Given the description of an element on the screen output the (x, y) to click on. 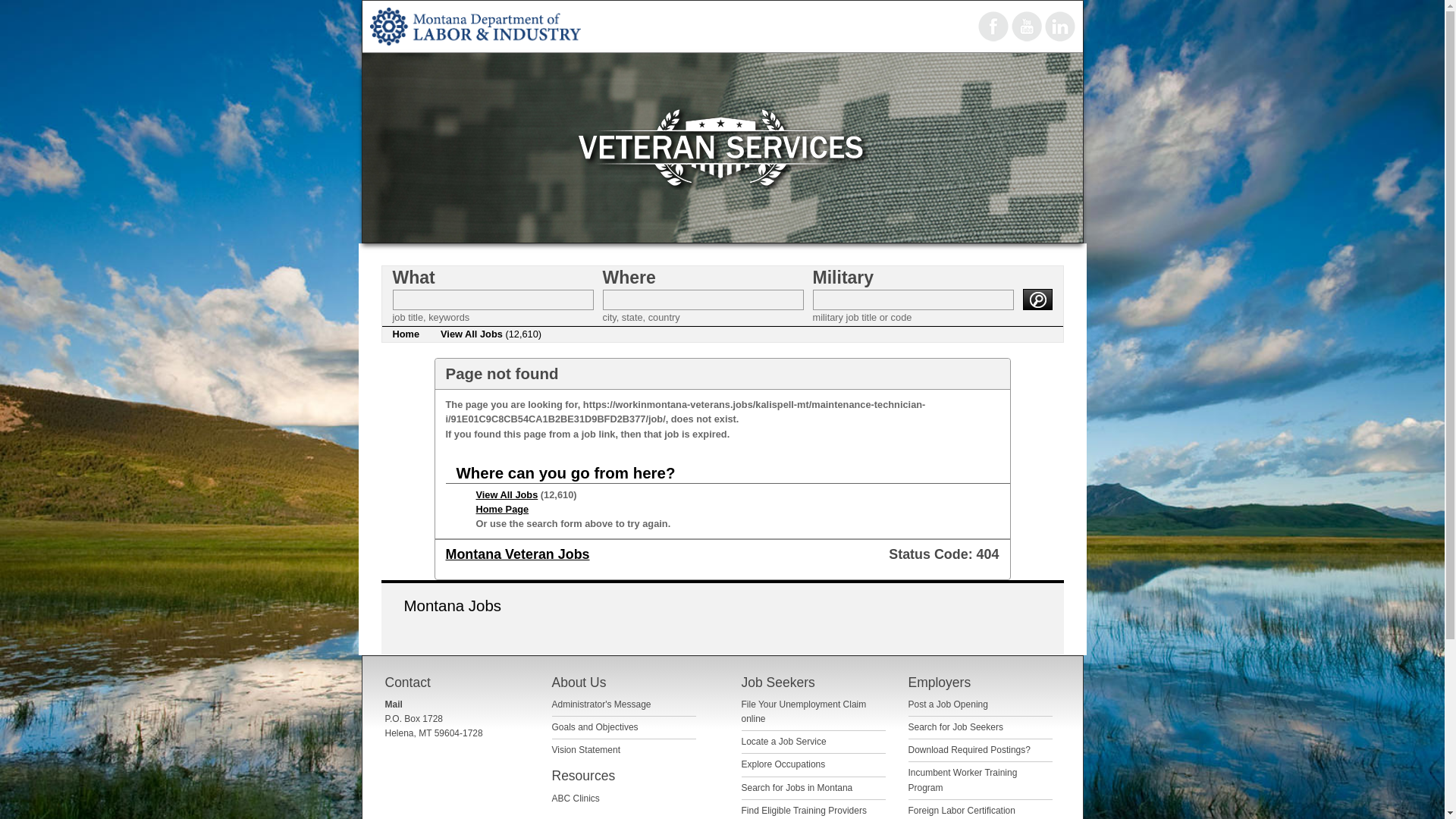
Explore Occupations (783, 764)
Find Eligible Training Providers (803, 810)
Home Page (502, 509)
Locate a Job Service (784, 741)
Administrator's Message (600, 704)
Search Phrase (493, 299)
Incumbent Worker Training Program (962, 779)
Search for Job Seekers (955, 726)
Download Required Postings? (969, 749)
Foreign Labor Certification Program (961, 812)
